Given the description of an element on the screen output the (x, y) to click on. 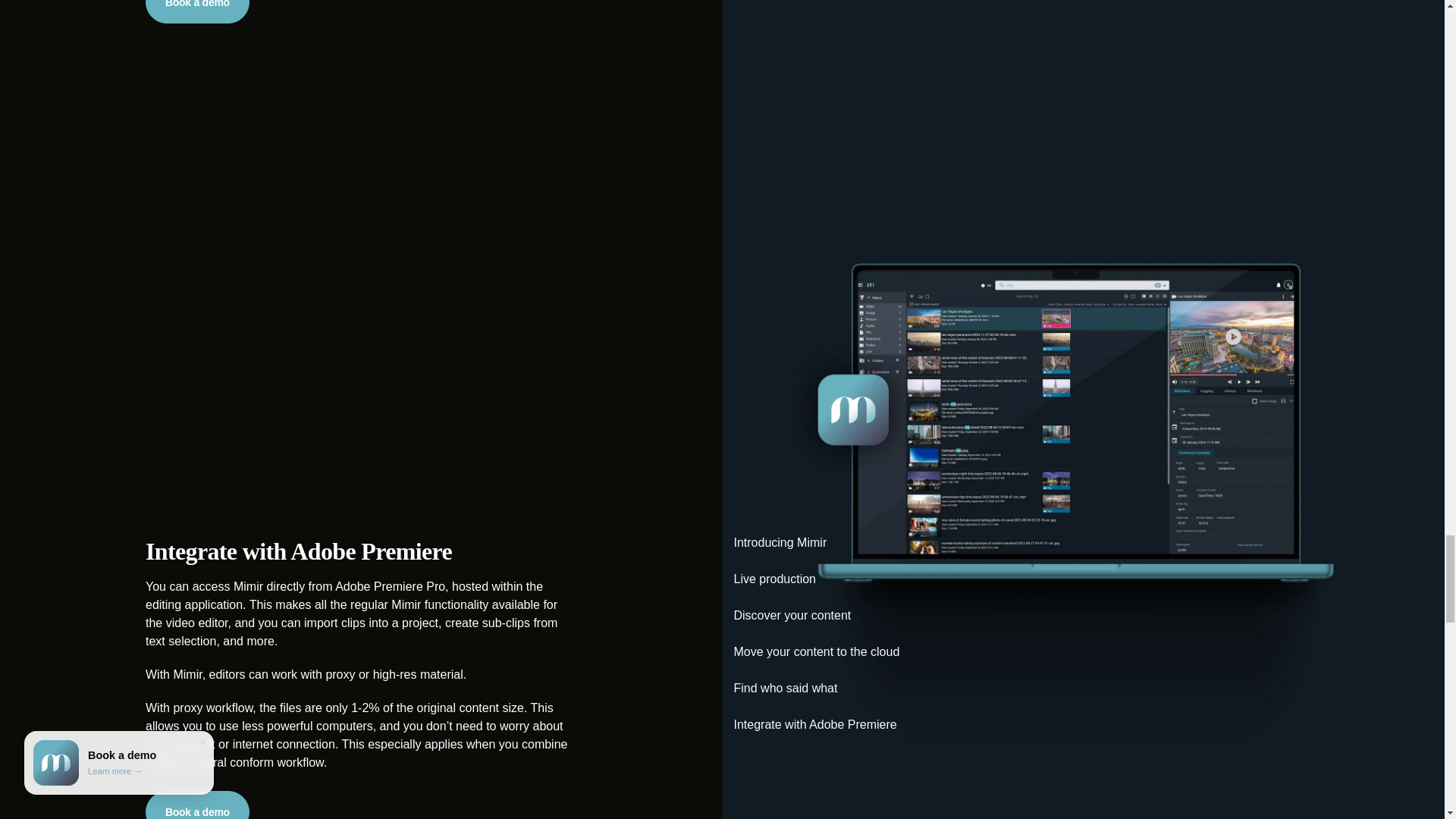
Book a demo (196, 805)
Book a demo (196, 11)
